Given the description of an element on the screen output the (x, y) to click on. 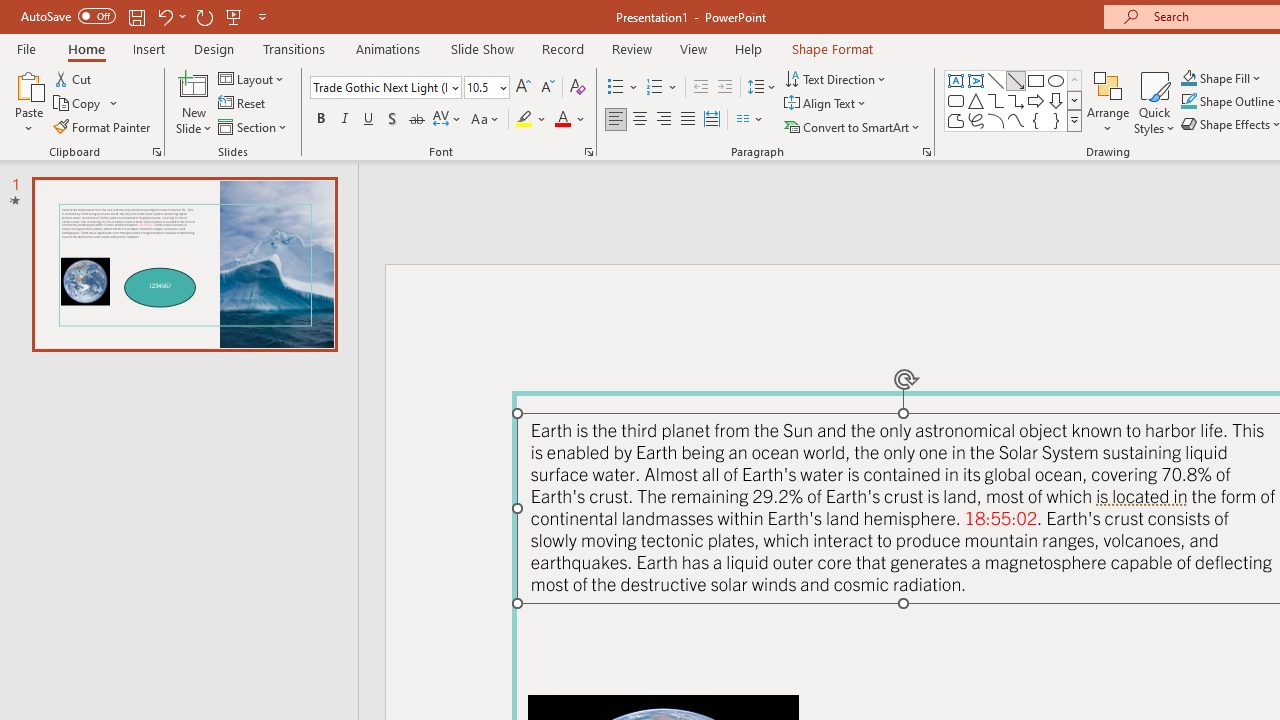
Shape Fill Aqua, Accent 2 (1188, 78)
